Given the description of an element on the screen output the (x, y) to click on. 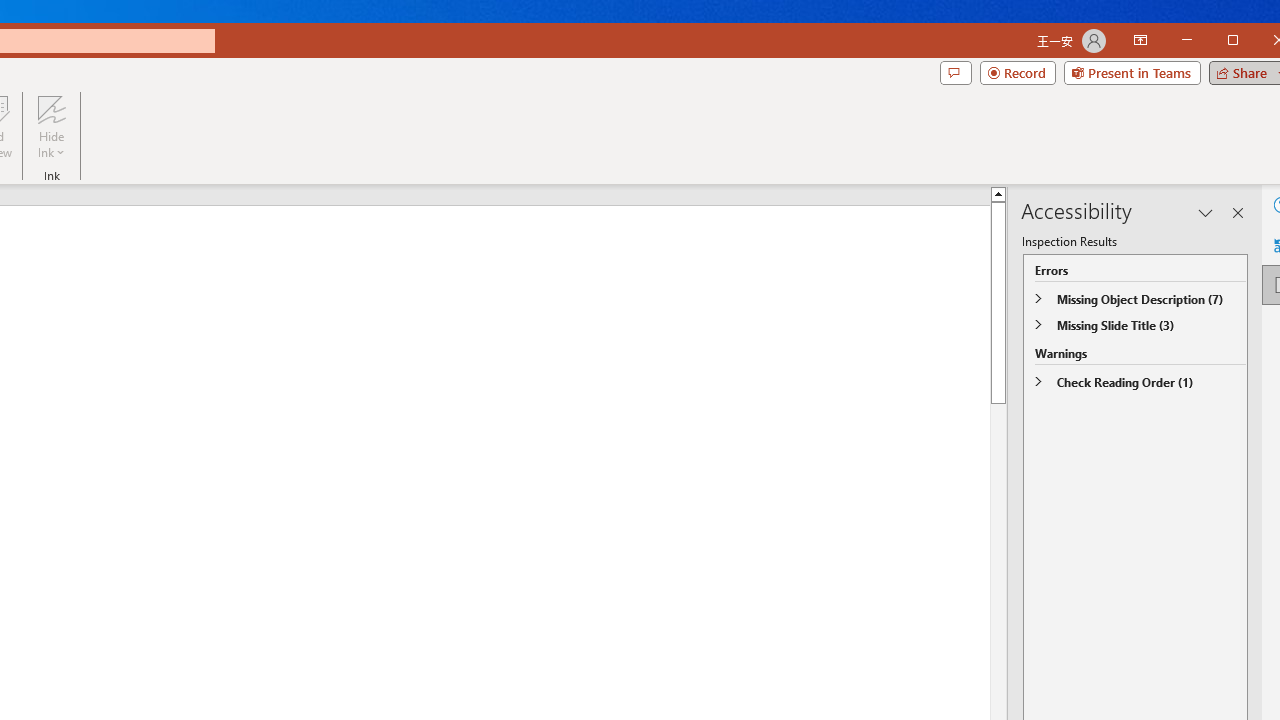
Hide Ink (51, 127)
Maximize (1261, 42)
Hide Ink (51, 109)
